Given the description of an element on the screen output the (x, y) to click on. 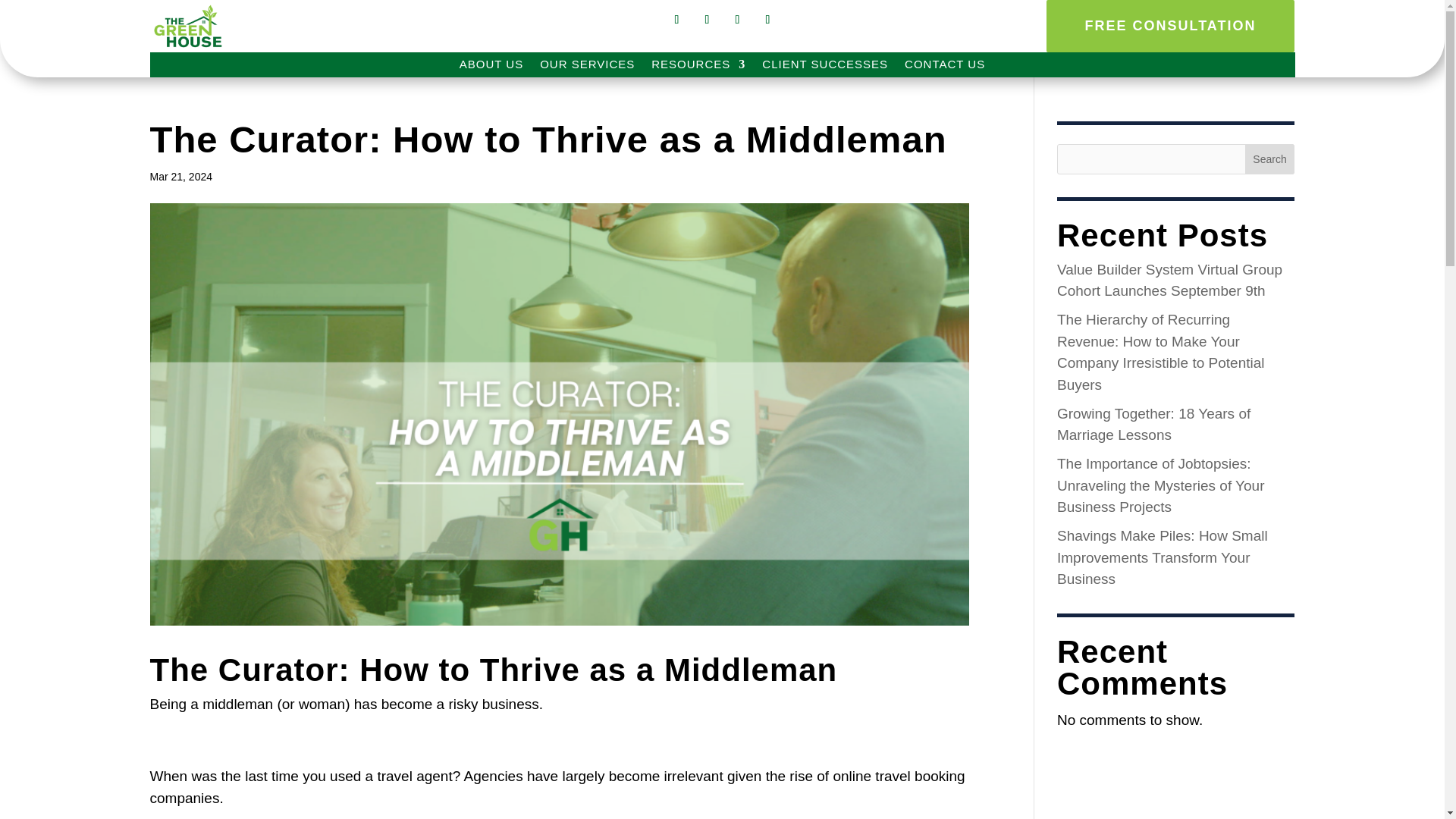
Growing Together: 18 Years of Marriage Lessons (1153, 423)
Follow on Facebook (675, 19)
ABOUT US (491, 67)
Follow on Instagram (706, 19)
CONTACT US (944, 67)
FREE CONSULTATION (1170, 26)
CLIENT SUCCESSES (824, 67)
